Given the description of an element on the screen output the (x, y) to click on. 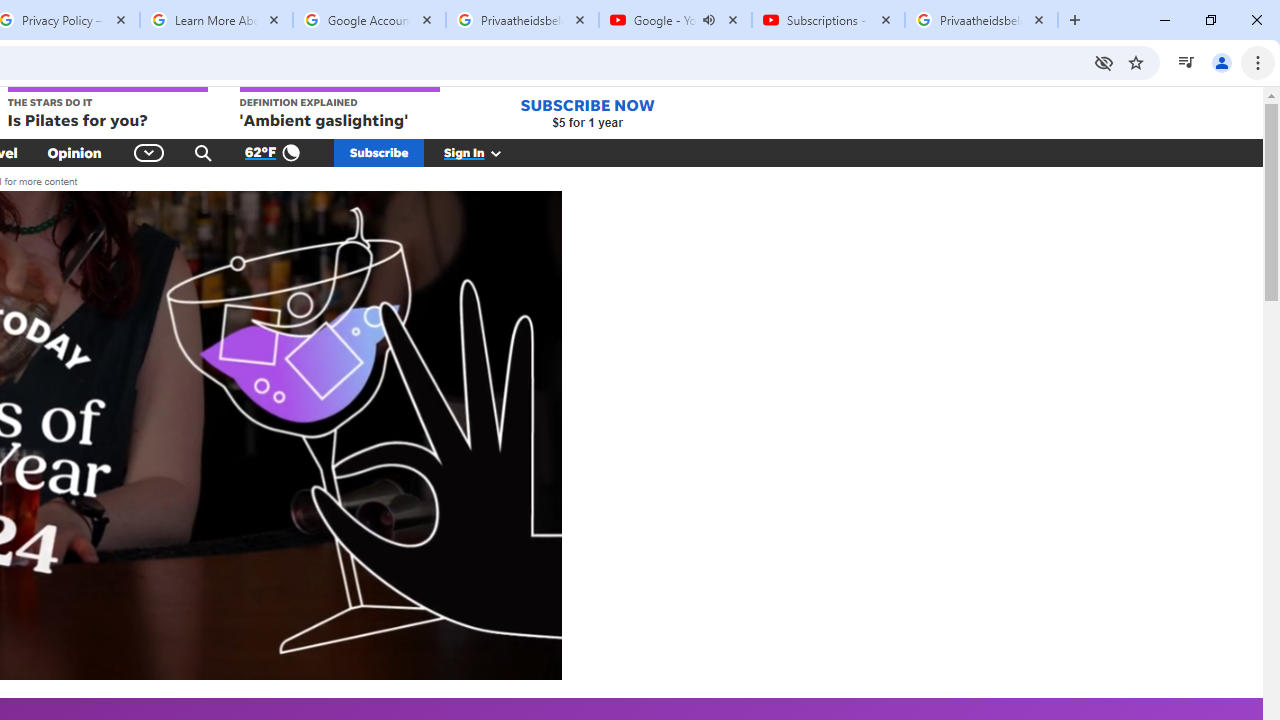
DEFINITION EXPLAINED 'Ambient gaslighting' (339, 109)
Sign In (483, 152)
Control your music, videos, and more (1185, 62)
Mute tab (708, 20)
